Given the description of an element on the screen output the (x, y) to click on. 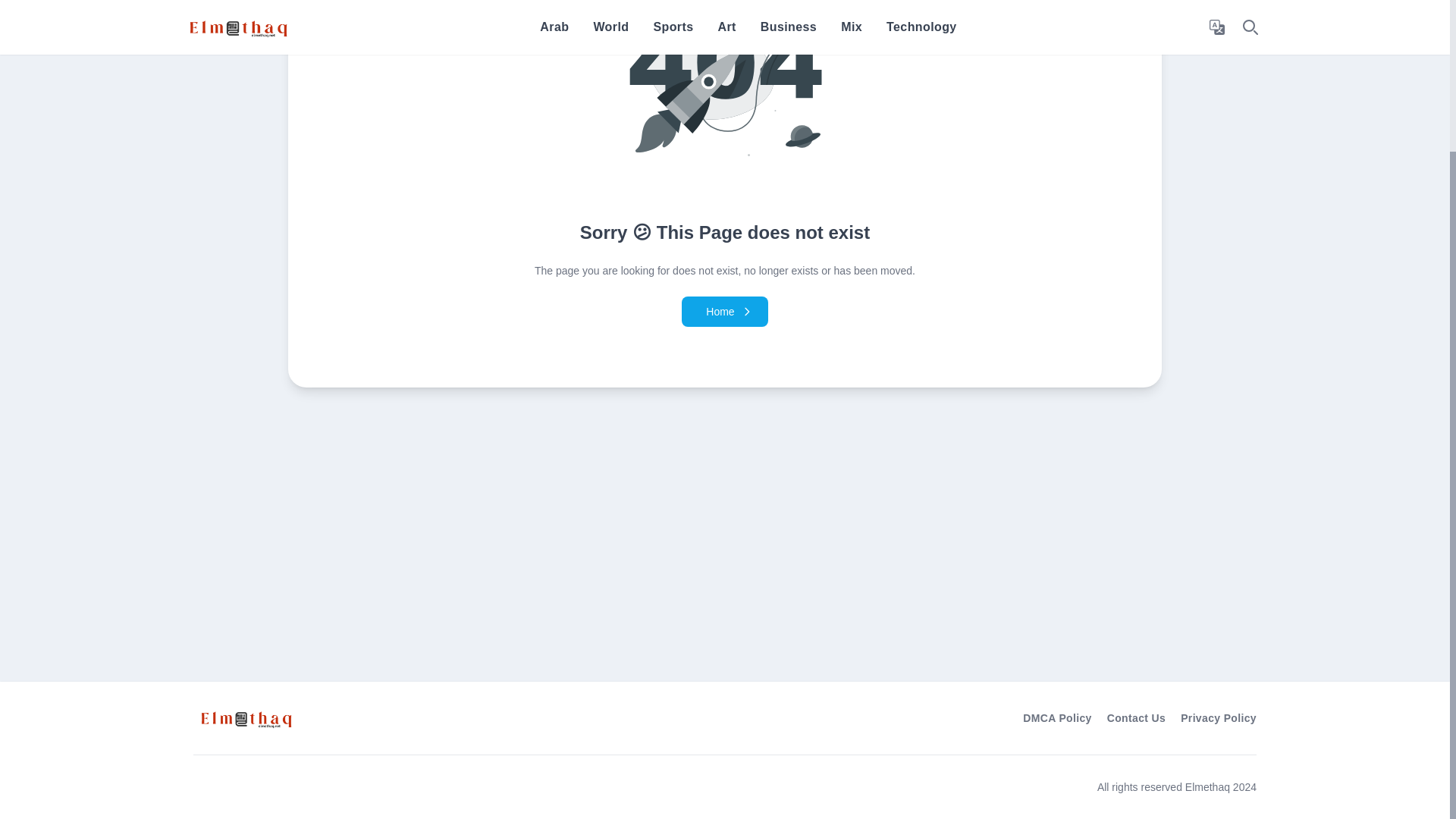
Contact Us (1136, 717)
Privacy Policy (1218, 717)
Home (724, 311)
DMCA Policy (1056, 717)
